Given the description of an element on the screen output the (x, y) to click on. 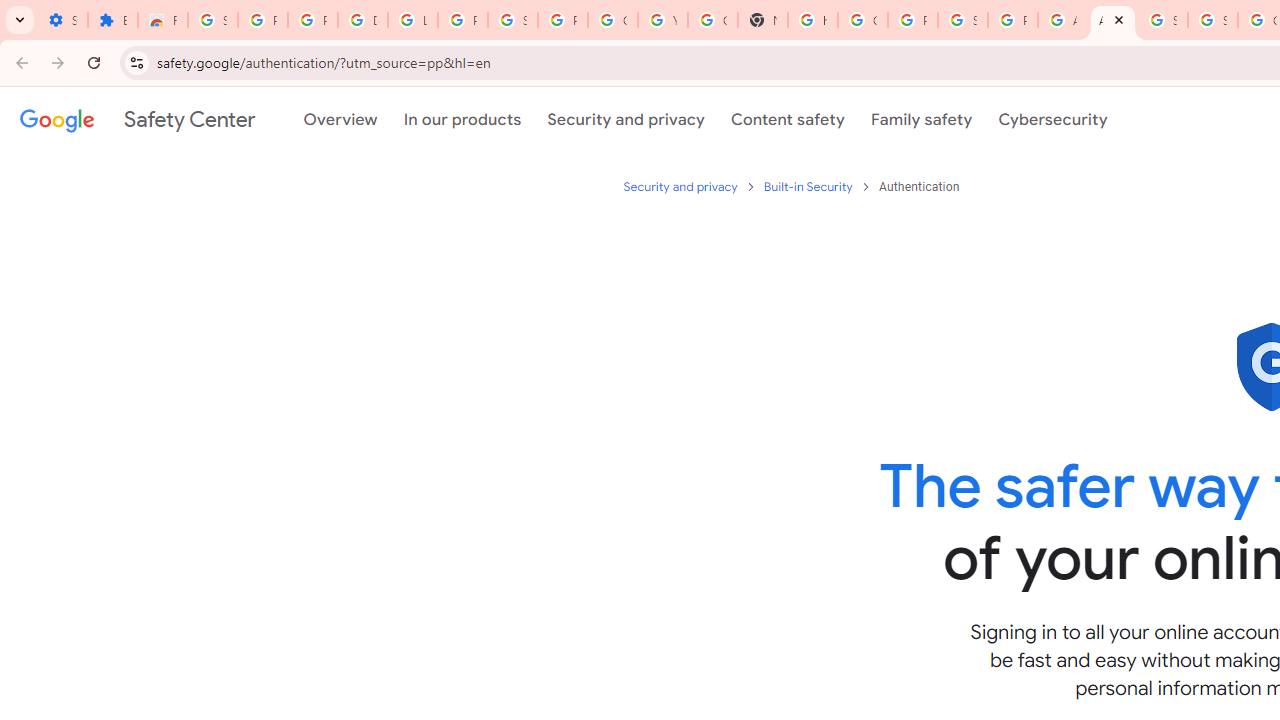
In our products (462, 119)
Learn how to find your photos - Google Photos Help (412, 20)
Content safety (787, 119)
Security and privacy (626, 119)
Google Account (612, 20)
https://scholar.google.com/ (813, 20)
Safety Center (137, 119)
